Given the description of an element on the screen output the (x, y) to click on. 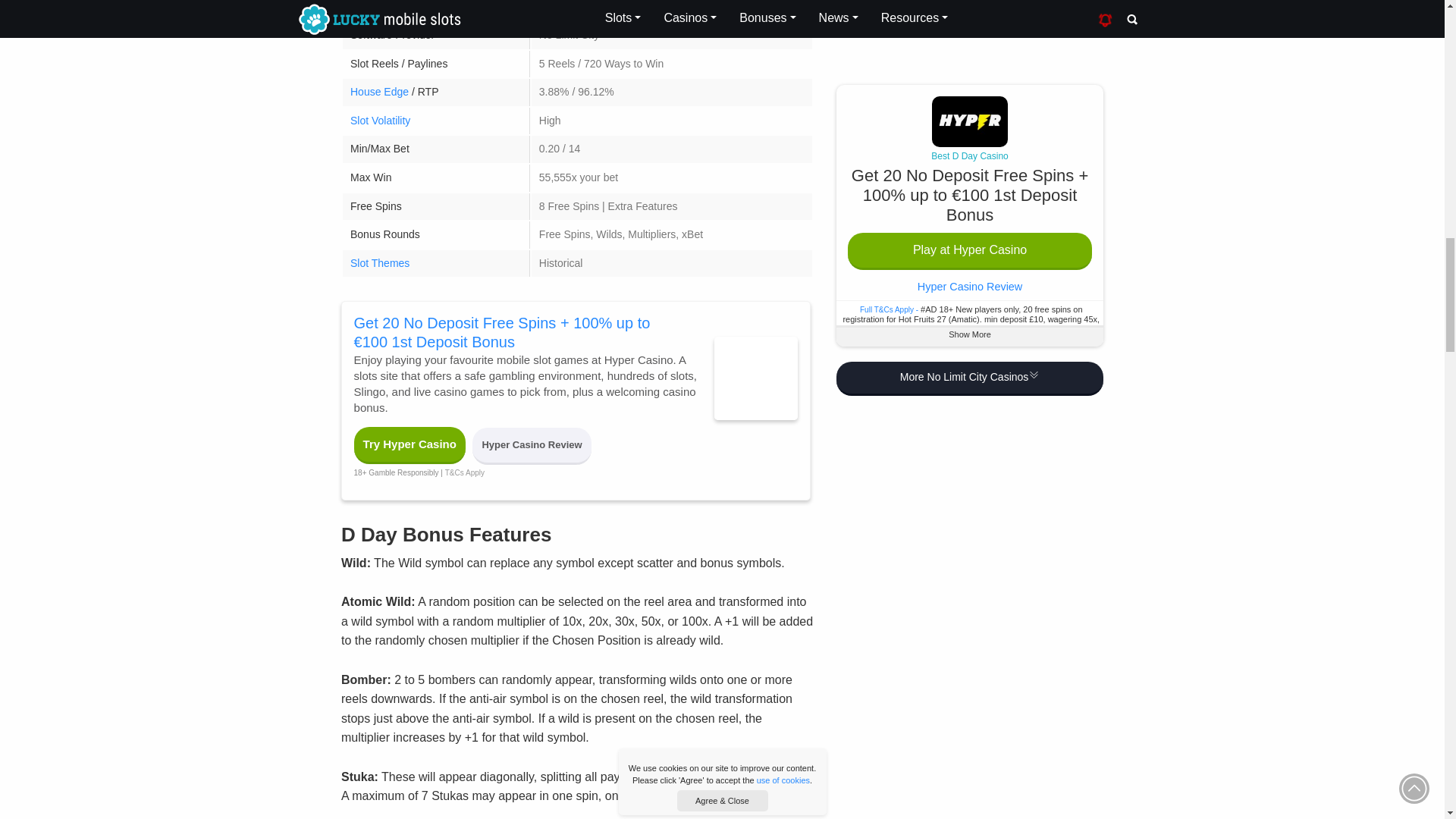
Casino Slots by Theme (379, 263)
Learn about slot volatility and variance (380, 120)
Learn about slots house edge (379, 91)
